Given the description of an element on the screen output the (x, y) to click on. 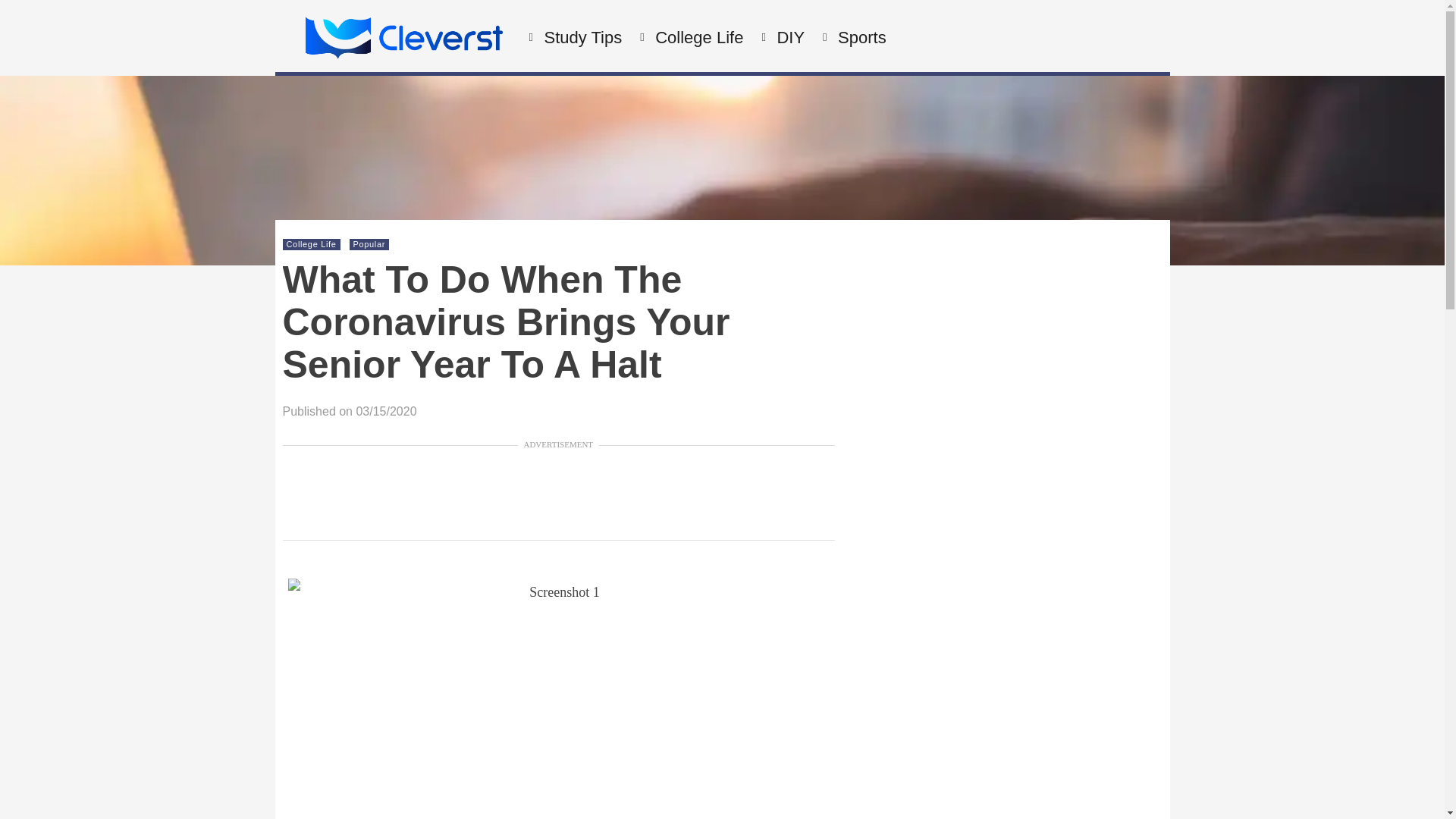
College Life (696, 37)
Sports (860, 37)
Study Tips (580, 37)
Cleverst (403, 54)
College Life (311, 243)
DIY (789, 37)
Popular (369, 243)
